Given the description of an element on the screen output the (x, y) to click on. 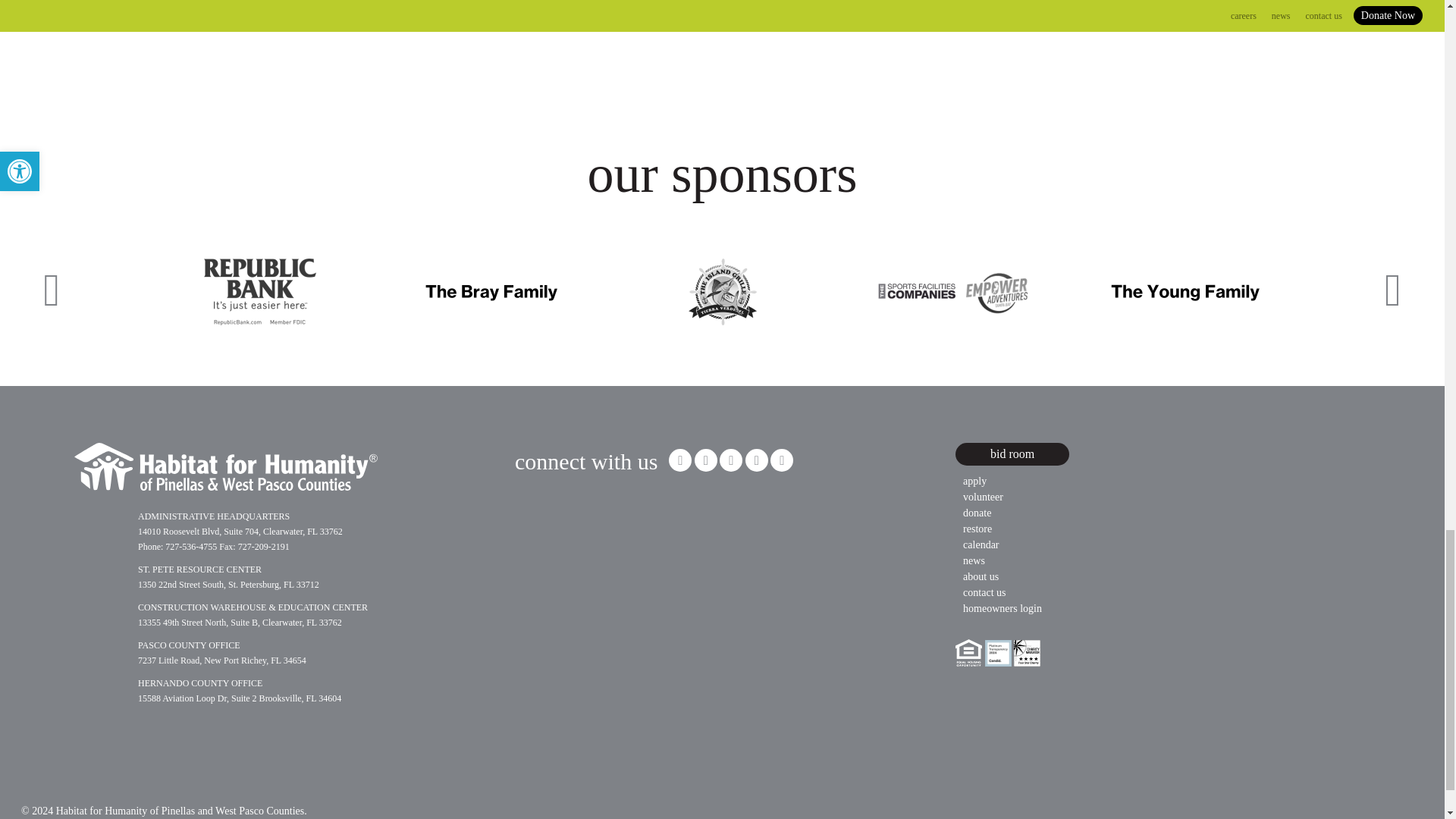
Form 1 (628, 554)
Form 0 (722, 33)
